Given the description of an element on the screen output the (x, y) to click on. 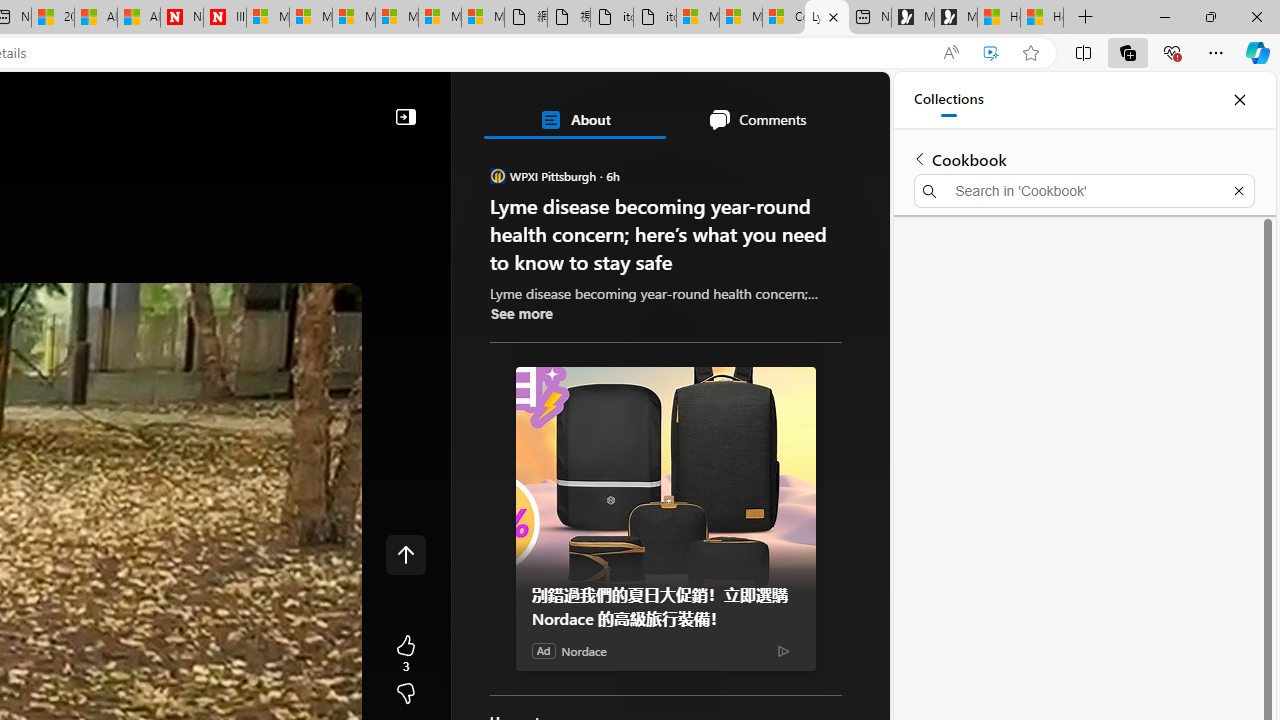
Illness news & latest pictures from Newsweek.com (224, 17)
Newsweek - News, Analysis, Politics, Business, Technology (182, 17)
Dislike (406, 693)
See more (522, 313)
Microsoft Start Gaming (955, 17)
Microsoft account | Privacy (740, 17)
itconcepthk.com/projector_solutions.mp4 (654, 17)
Open settings (845, 105)
